Given the description of an element on the screen output the (x, y) to click on. 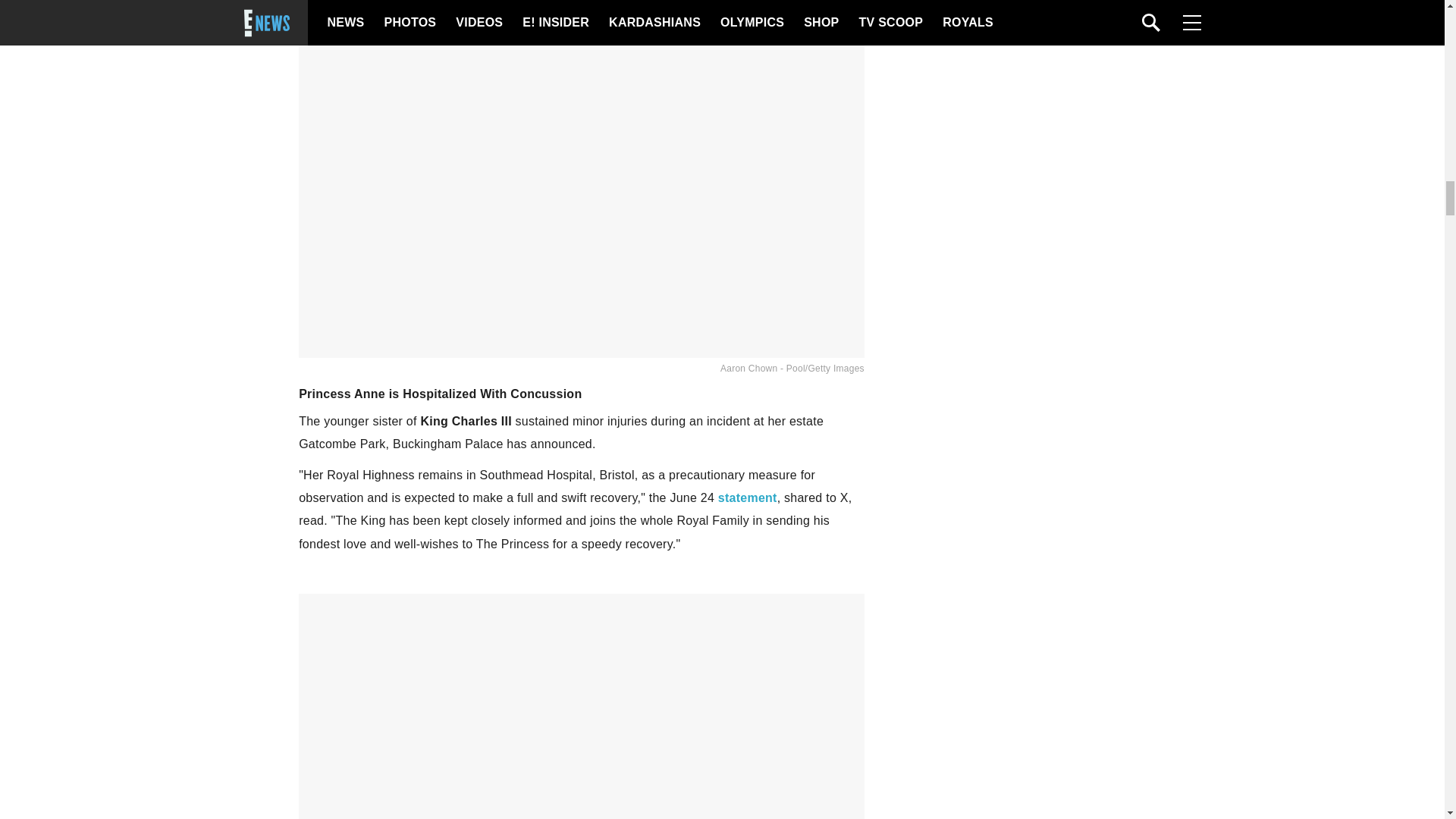
statement (747, 497)
